Given the description of an element on the screen output the (x, y) to click on. 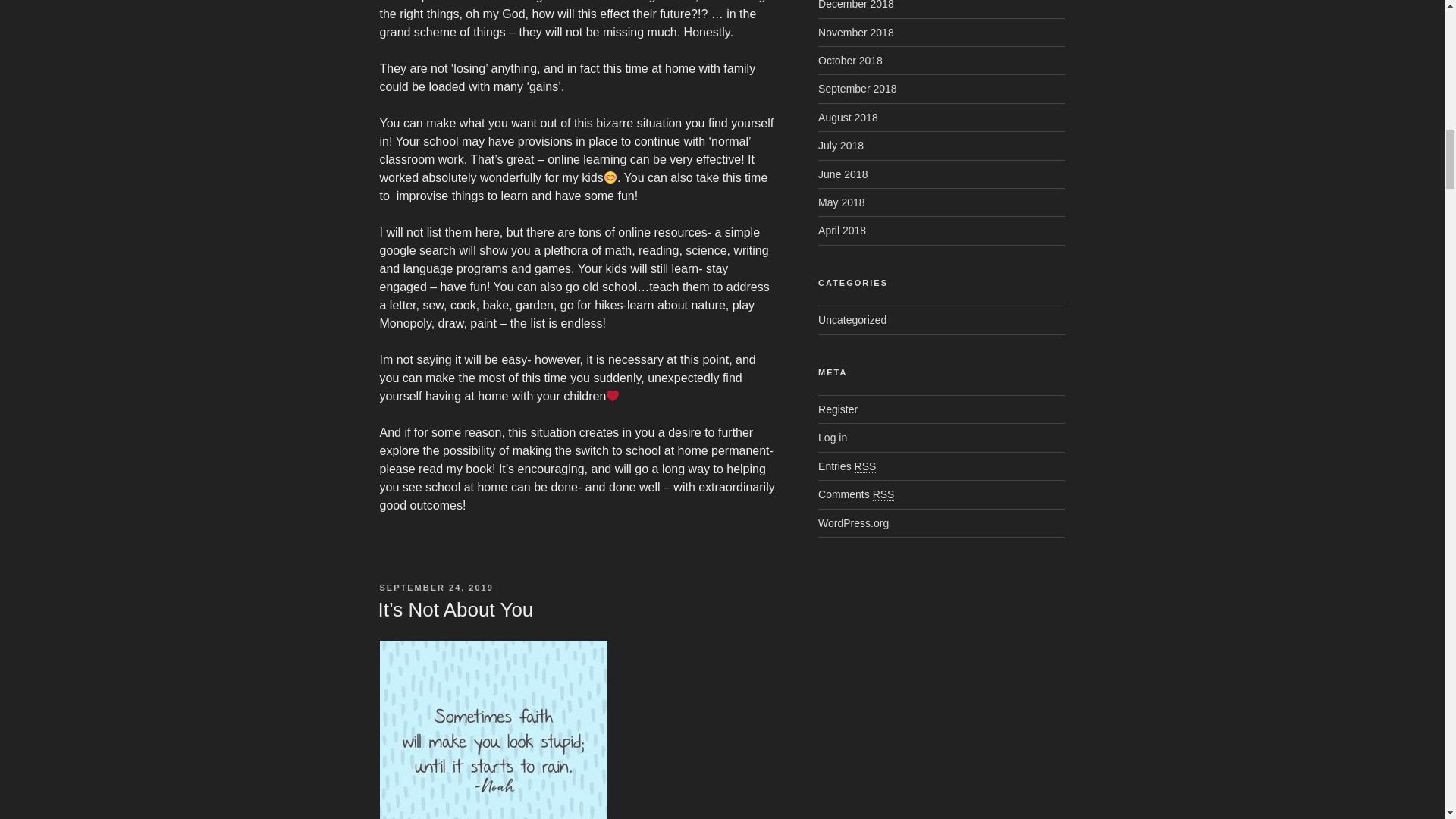
Really Simple Syndication (883, 494)
Really Simple Syndication (865, 466)
SEPTEMBER 24, 2019 (435, 587)
